Given the description of an element on the screen output the (x, y) to click on. 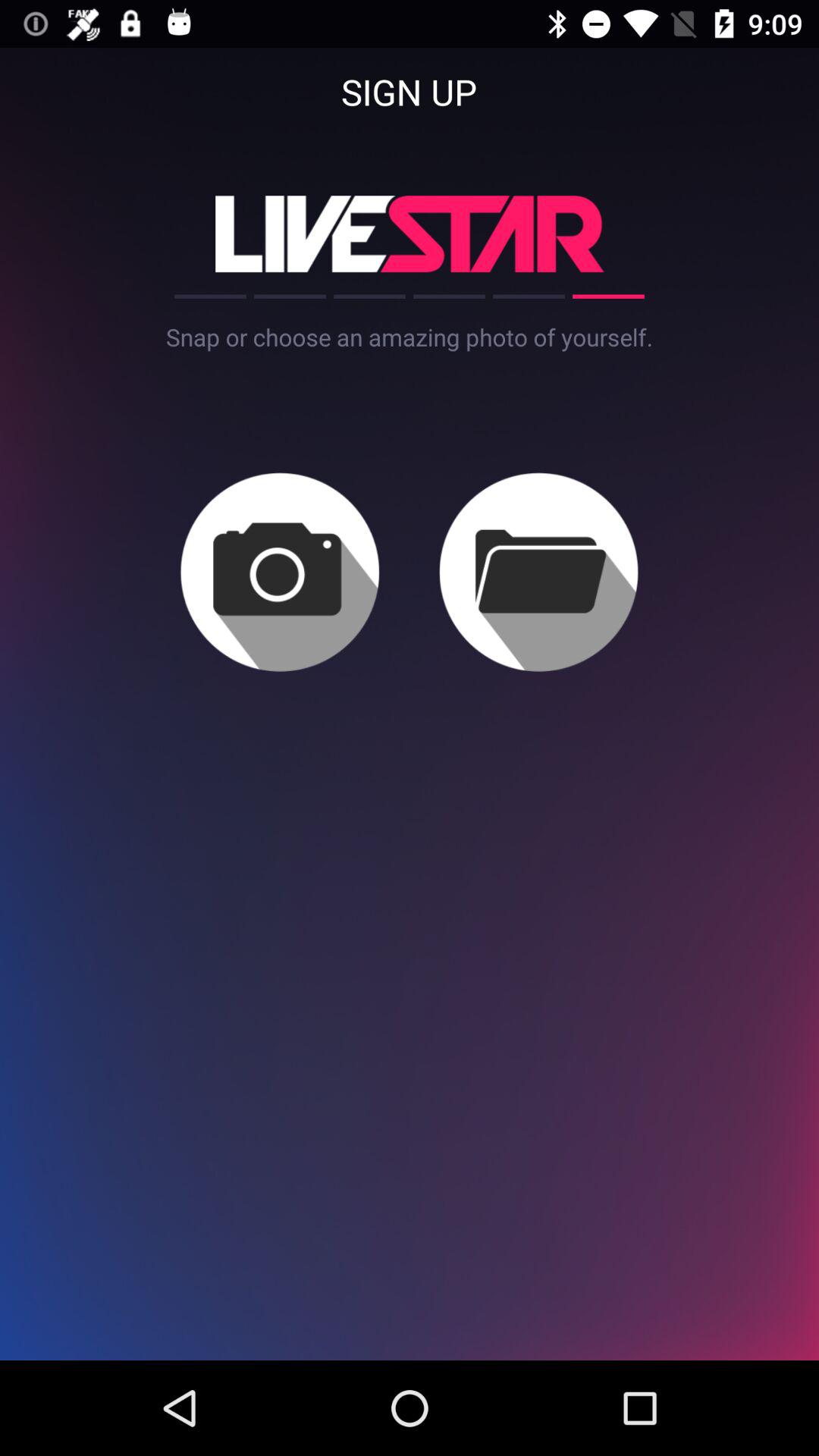
choose a picture from folder (538, 571)
